Given the description of an element on the screen output the (x, y) to click on. 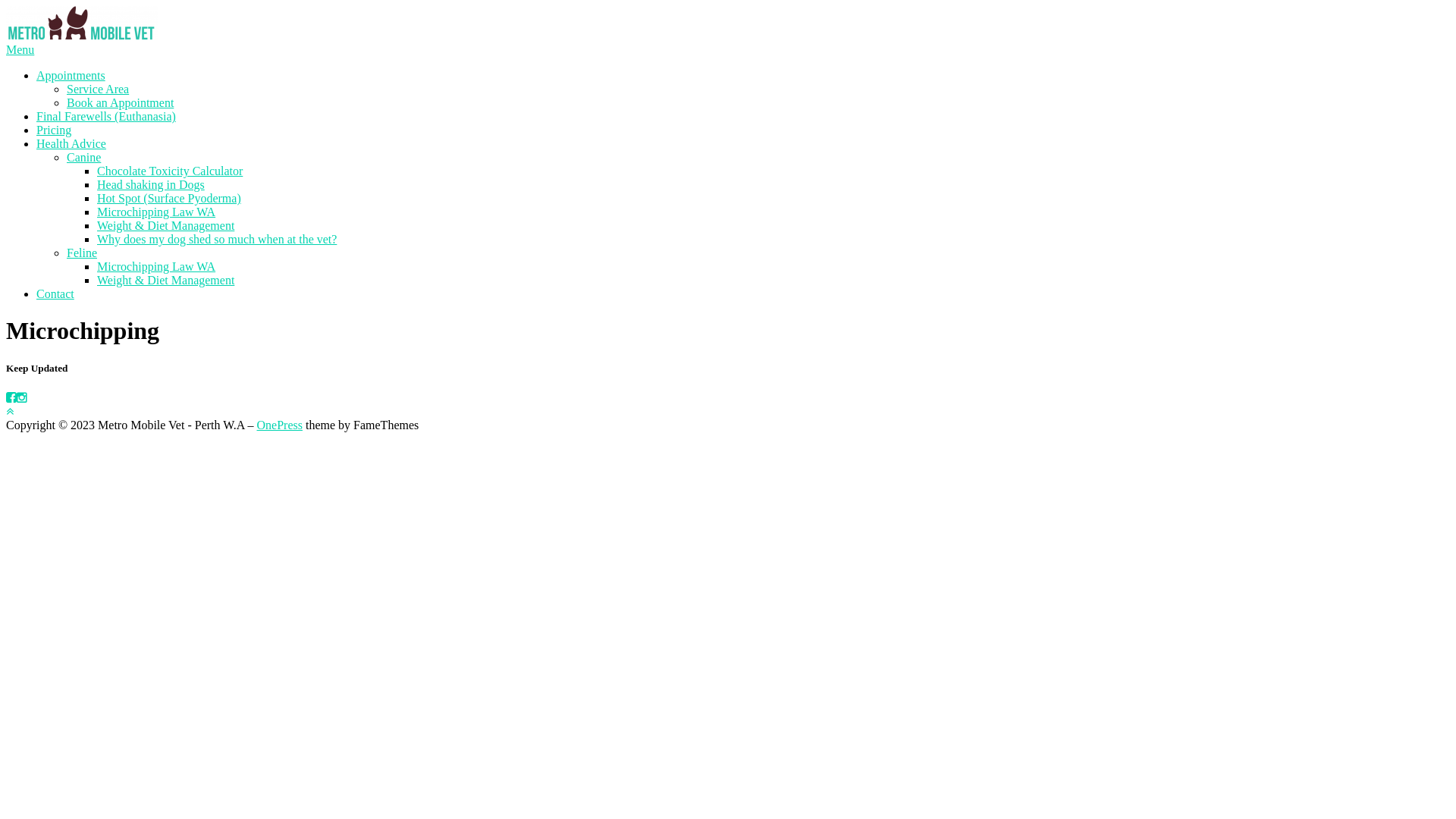
Book an Appointment Element type: text (119, 102)
Health Advice Element type: text (71, 143)
Microchipping Law WA Element type: text (156, 211)
Pricing Element type: text (53, 129)
Canine Element type: text (83, 156)
Hot Spot (Surface Pyoderma) Element type: text (169, 197)
Head shaking in Dogs Element type: text (150, 184)
Weight & Diet Management Element type: text (165, 225)
Final Farewells (Euthanasia) Element type: text (105, 115)
Why does my dog shed so much when at the vet? Element type: text (216, 238)
Menu Element type: text (20, 49)
Chocolate Toxicity Calculator Element type: text (169, 170)
Facebook Element type: hover (11, 397)
Weight & Diet Management Element type: text (165, 279)
Feline Element type: text (81, 252)
OnePress Element type: text (279, 424)
Contact Element type: text (55, 293)
Appointments Element type: text (70, 75)
Service Area Element type: text (97, 88)
Microchipping Law WA Element type: text (156, 266)
Skip to content Element type: text (5, 5)
Back To Top Element type: hover (9, 410)
Instagram Element type: hover (21, 397)
